Given the description of an element on the screen output the (x, y) to click on. 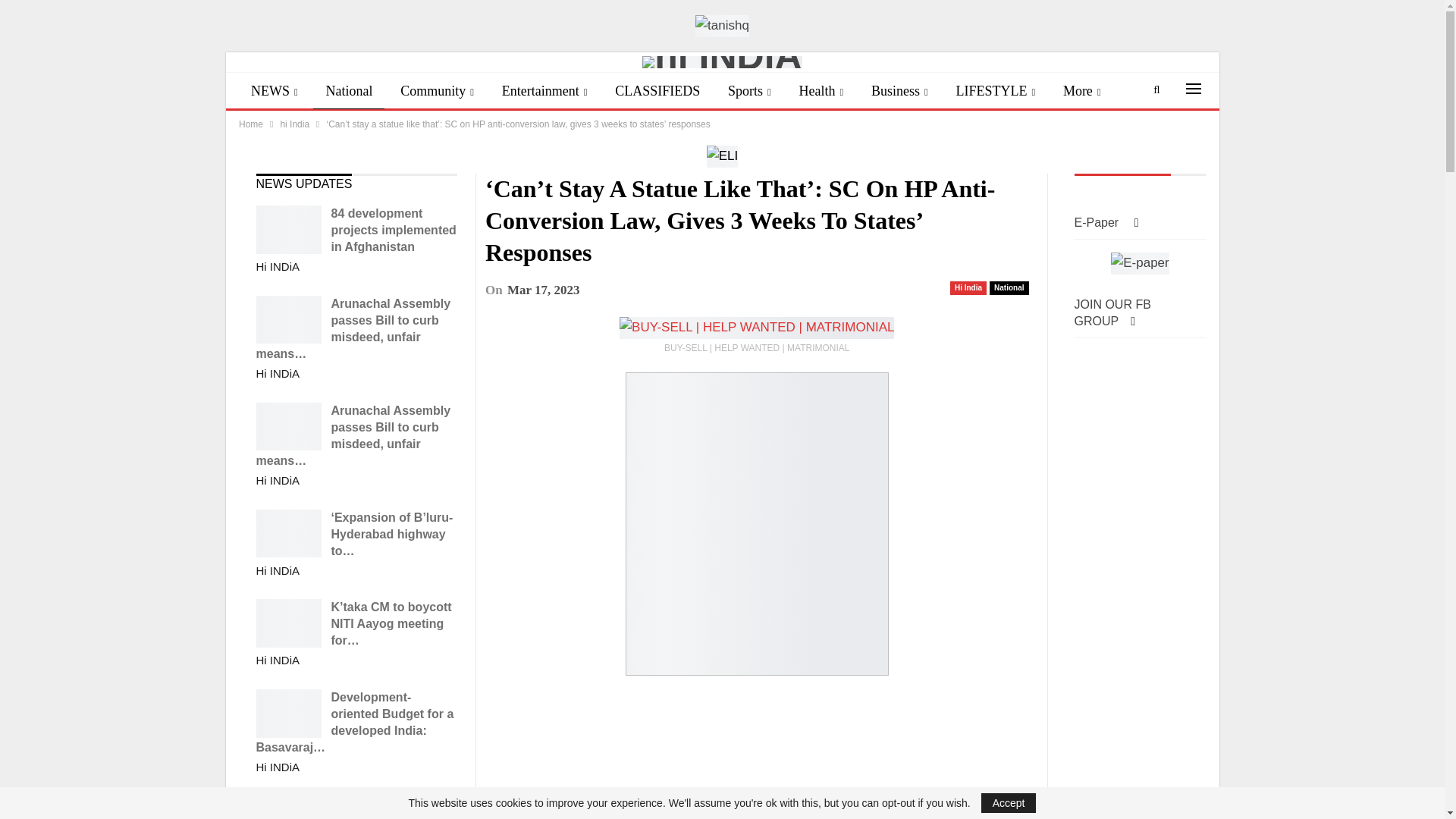
84 development projects implemented in Afghanistan (288, 229)
Browse Author Articles (277, 373)
Browse Author Articles (277, 481)
Browse Author Articles (277, 267)
